Given the description of an element on the screen output the (x, y) to click on. 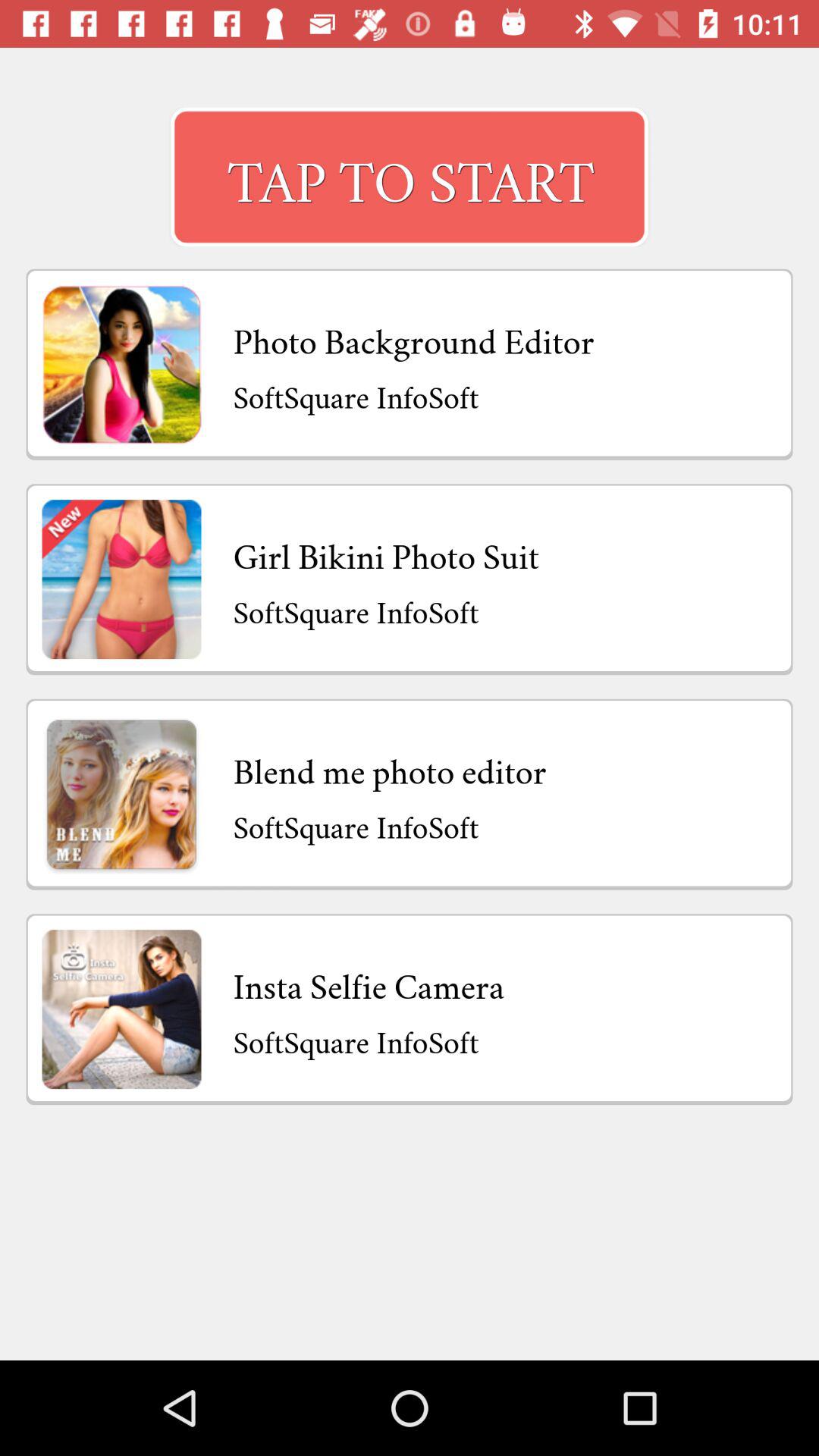
open the girl bikini photo item (386, 552)
